Given the description of an element on the screen output the (x, y) to click on. 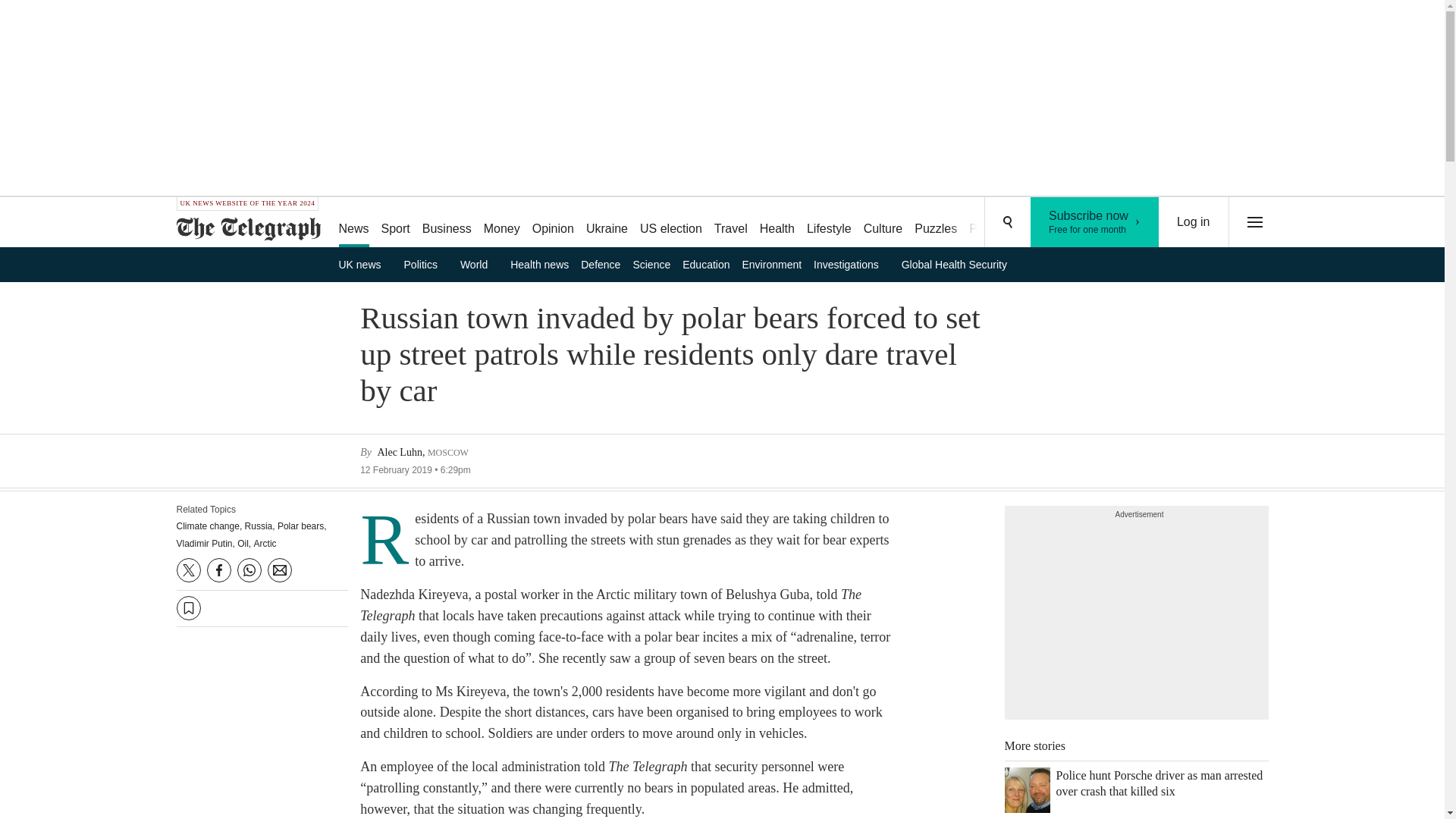
Money (501, 223)
Opinion (552, 223)
UK news (1094, 222)
Log in (364, 264)
Politics (1193, 222)
US election (425, 264)
Business (670, 223)
Ukraine (446, 223)
Puzzles (606, 223)
Health (935, 223)
World (777, 223)
Travel (478, 264)
Lifestyle (730, 223)
Culture (828, 223)
